Given the description of an element on the screen output the (x, y) to click on. 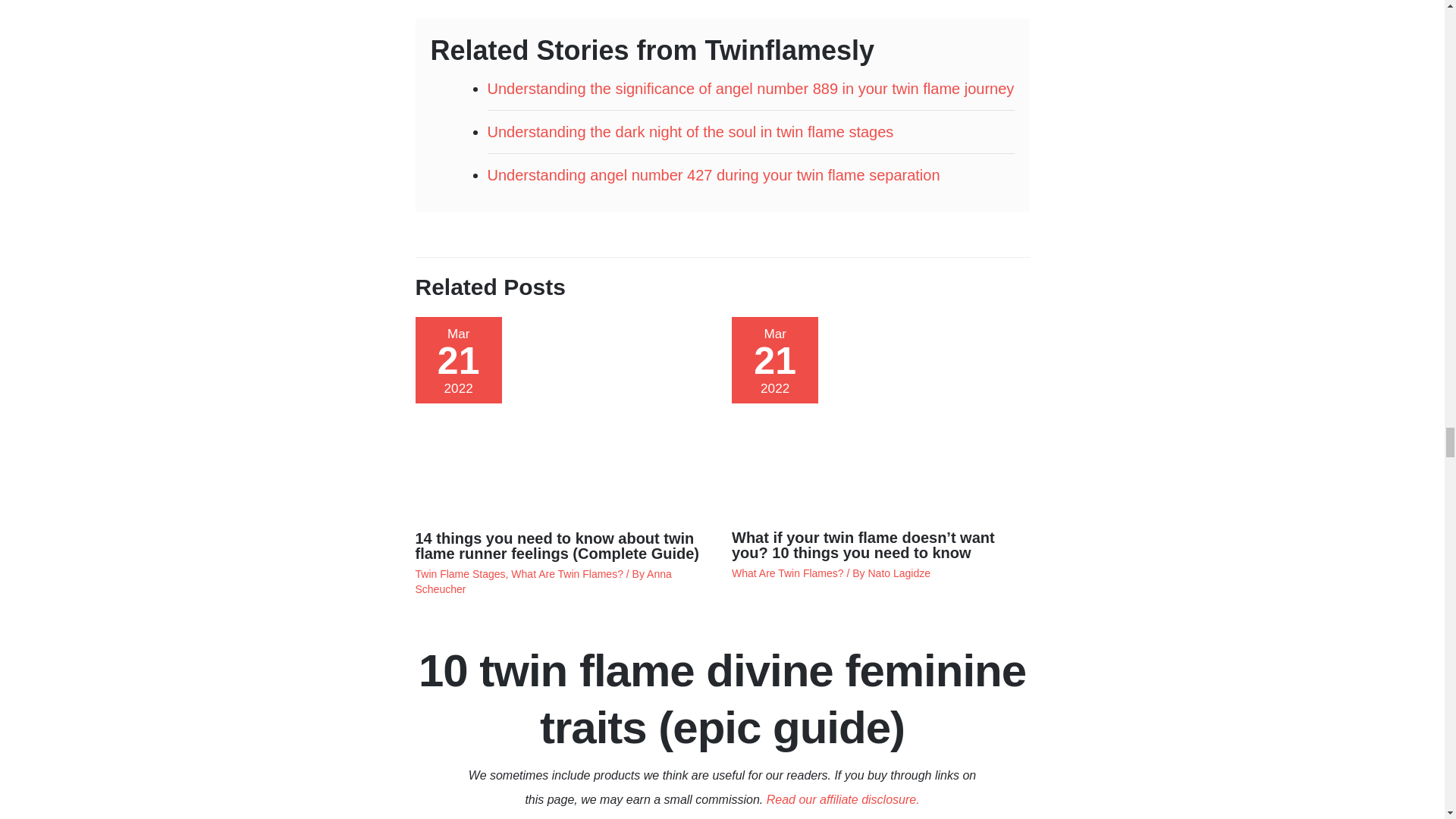
View all posts by Nato Lagidze (898, 573)
View all posts by Anna Scheucher (542, 581)
